Given the description of an element on the screen output the (x, y) to click on. 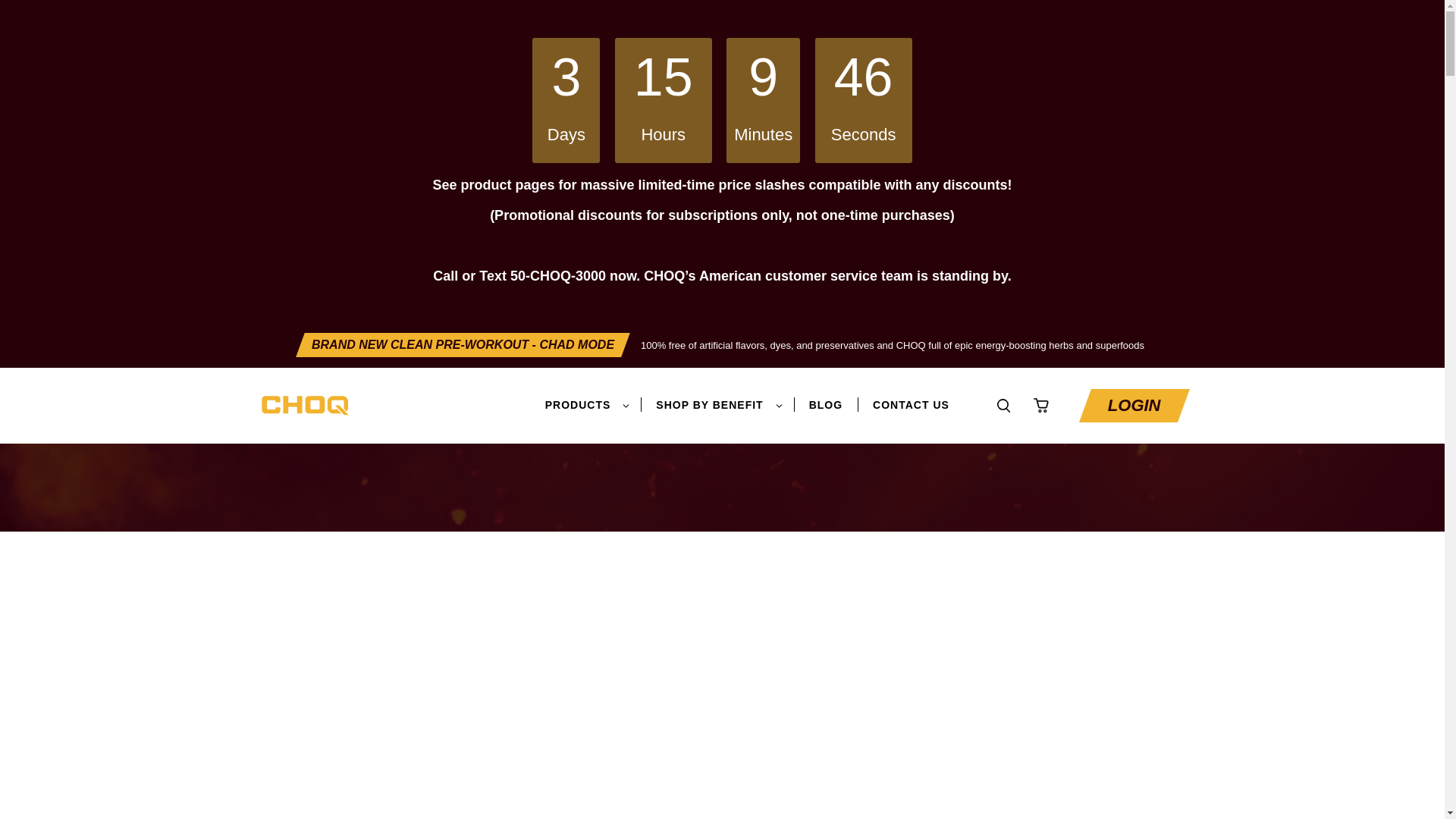
BLOG (826, 405)
Breathwork: Why You Desperately Need it in Your Life (703, 437)
Homepage (301, 437)
CONTACT US (910, 405)
LOGIN (1133, 405)
